Given the description of an element on the screen output the (x, y) to click on. 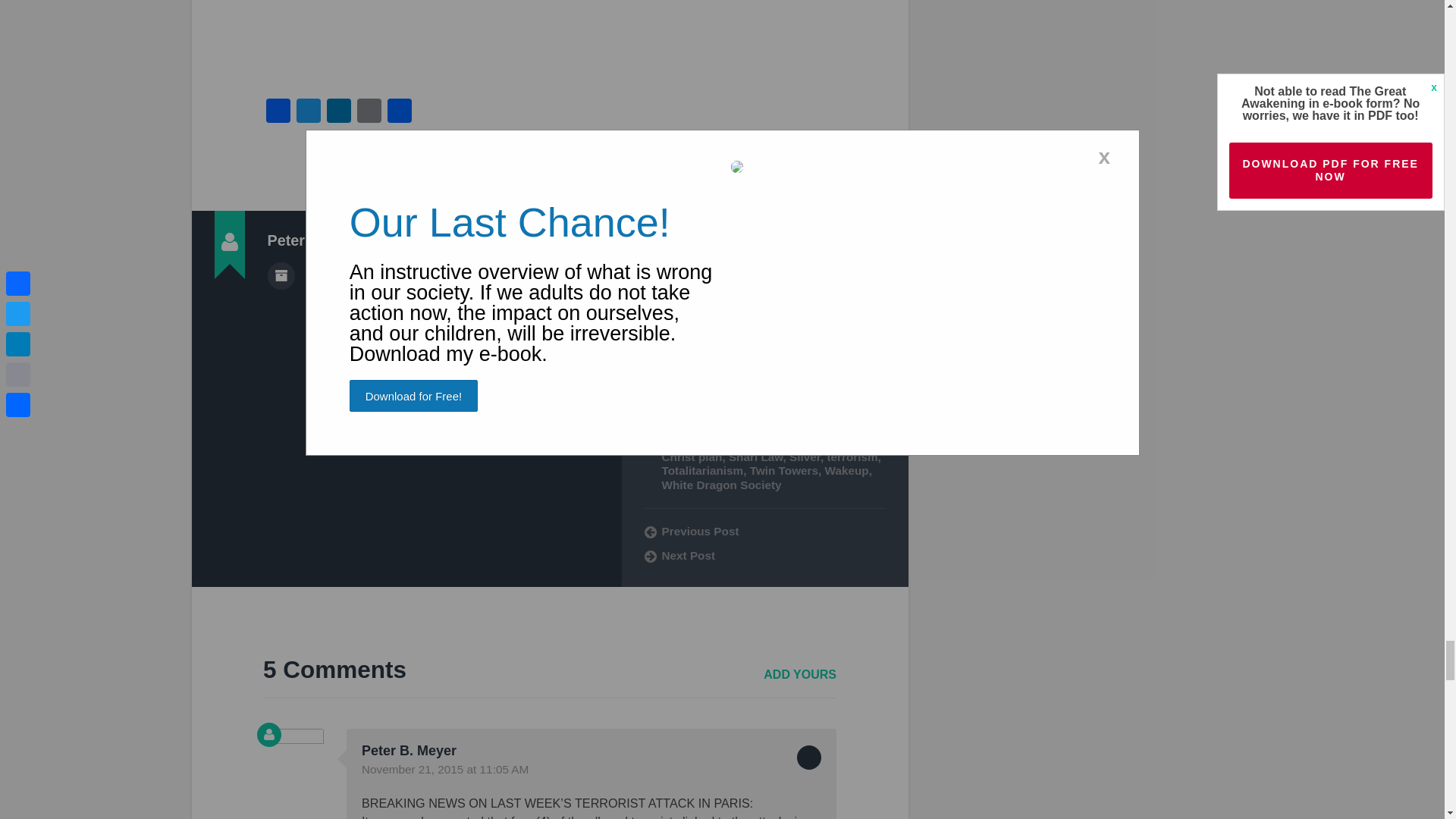
LinkedIn (338, 112)
Previous post: Glitters Deceive (765, 531)
Facebook (278, 112)
Author archive (280, 275)
Email (368, 112)
Twitter (308, 112)
Next post: Bitcoin explained (765, 555)
